Given the description of an element on the screen output the (x, y) to click on. 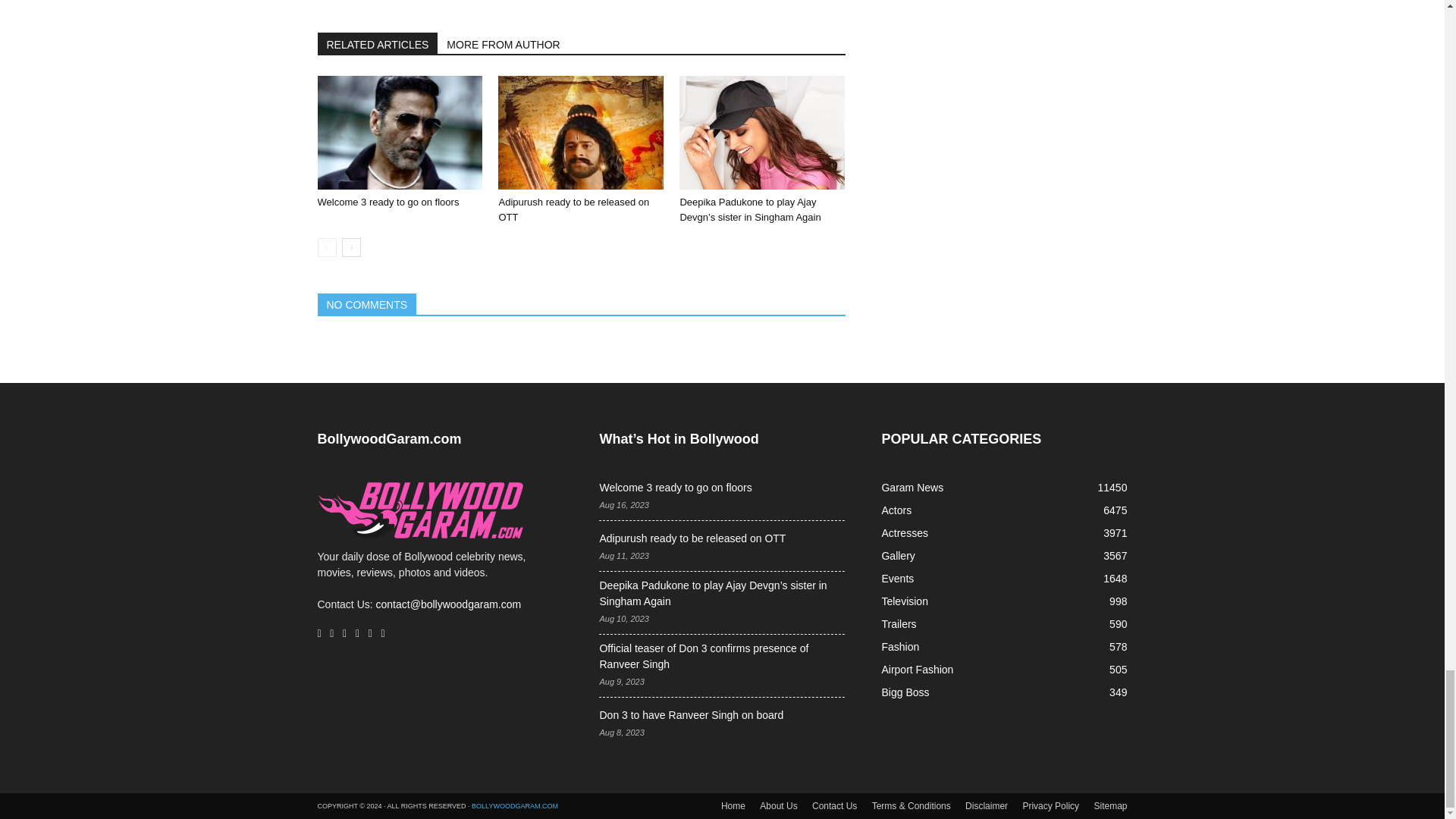
Adipurush ready to be released on OTT (580, 132)
Welcome 3 ready to go on floors (399, 132)
Adipurush ready to be released on OTT (573, 209)
Welcome 3 ready to go on floors (387, 202)
